Given the description of an element on the screen output the (x, y) to click on. 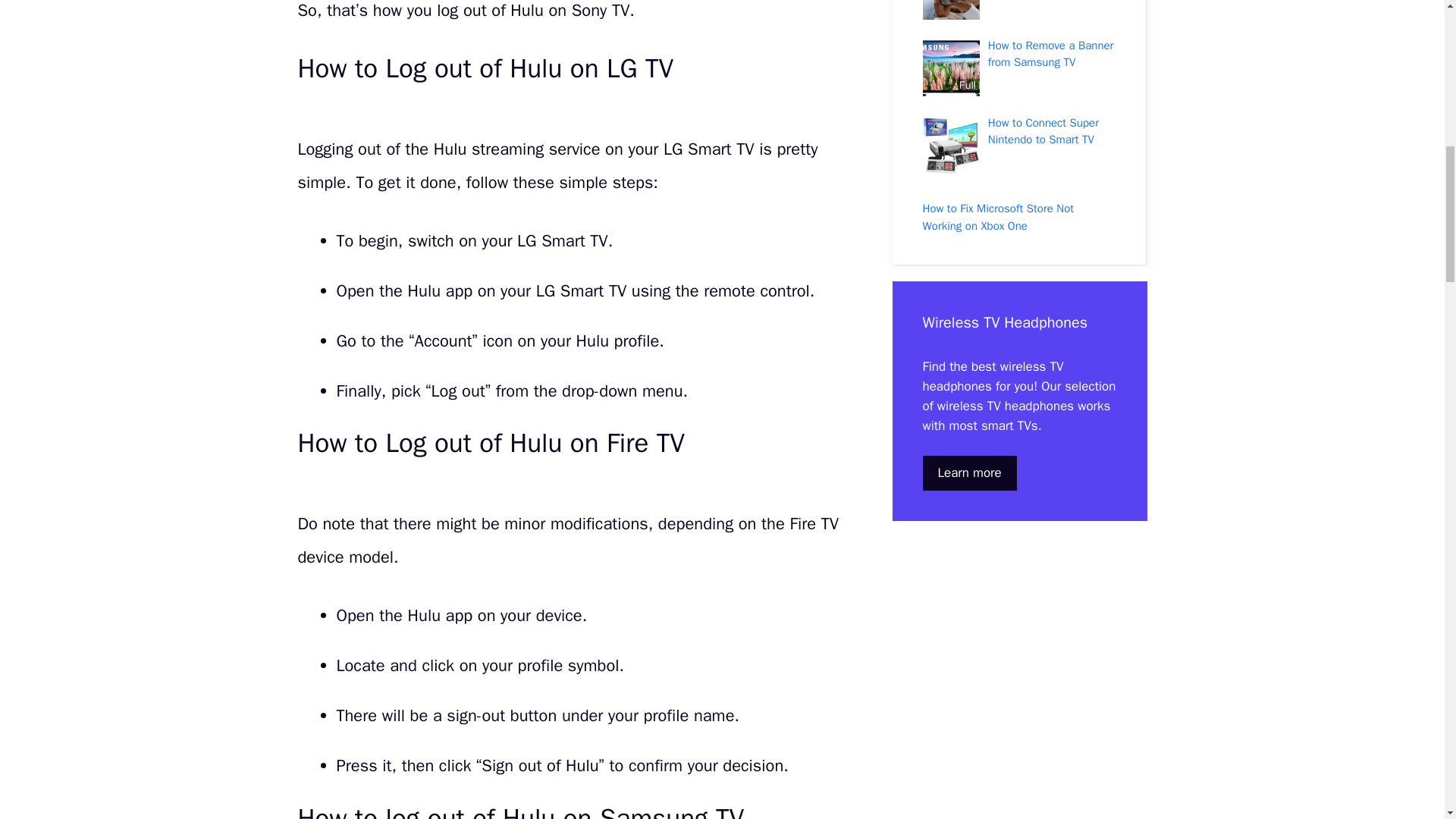
How to Fix Microsoft Store Not Working on Xbox One (997, 216)
Learn more (968, 472)
How to Connect Super Nintendo to Smart TV (1043, 131)
How to Remove a Banner from Samsung TV (1050, 53)
